Given the description of an element on the screen output the (x, y) to click on. 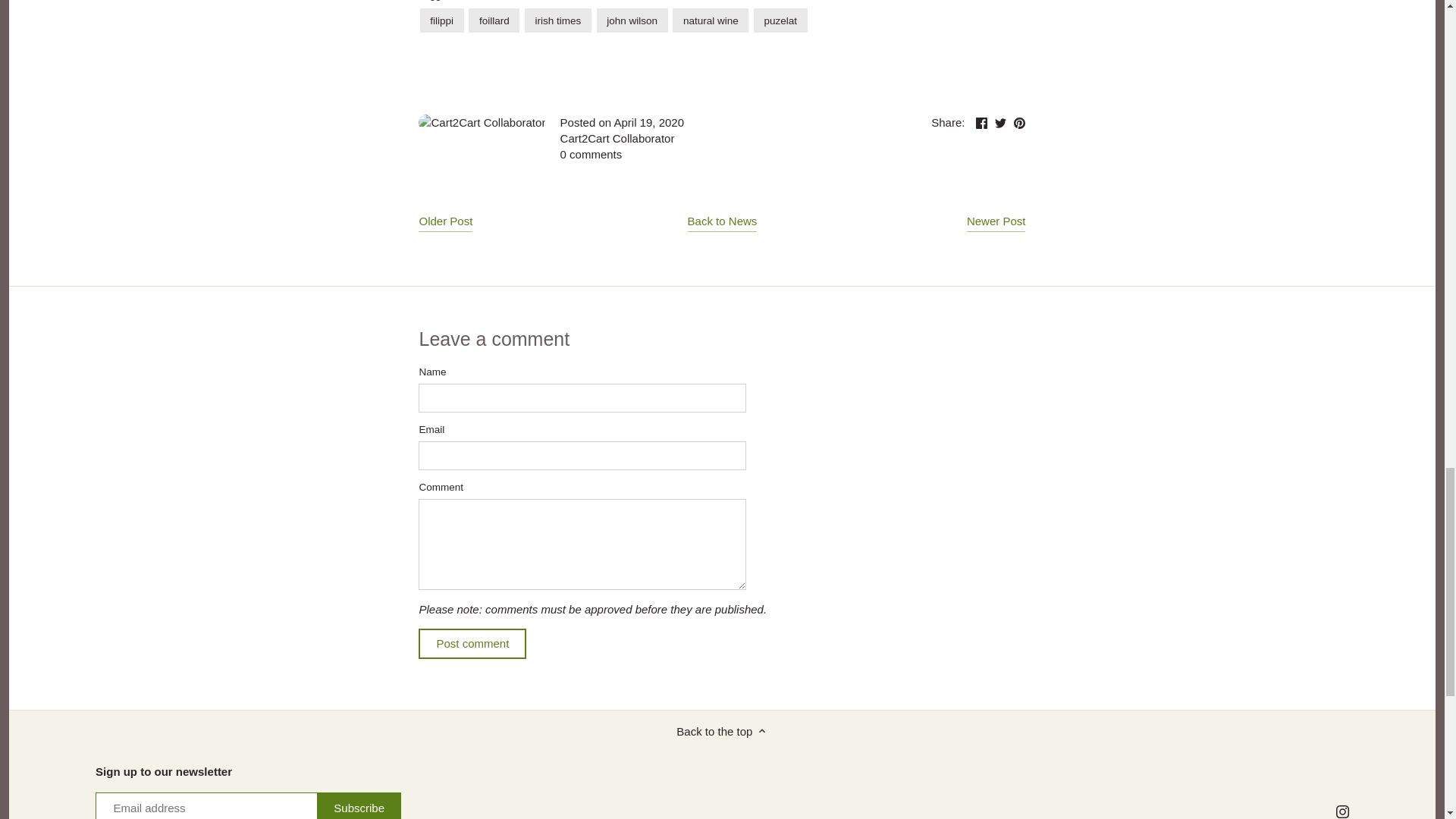
Pinterest (1019, 122)
Show articles tagged puzelat (781, 20)
Show articles tagged john wilson (632, 20)
Subscribe (359, 805)
Twitter (1000, 122)
Post comment (472, 643)
Show articles tagged irish times (557, 20)
Show articles tagged foillard (493, 20)
Facebook (981, 122)
Show articles tagged filippi (442, 20)
Show articles tagged natural wine (710, 20)
Instagram (1342, 811)
